Given the description of an element on the screen output the (x, y) to click on. 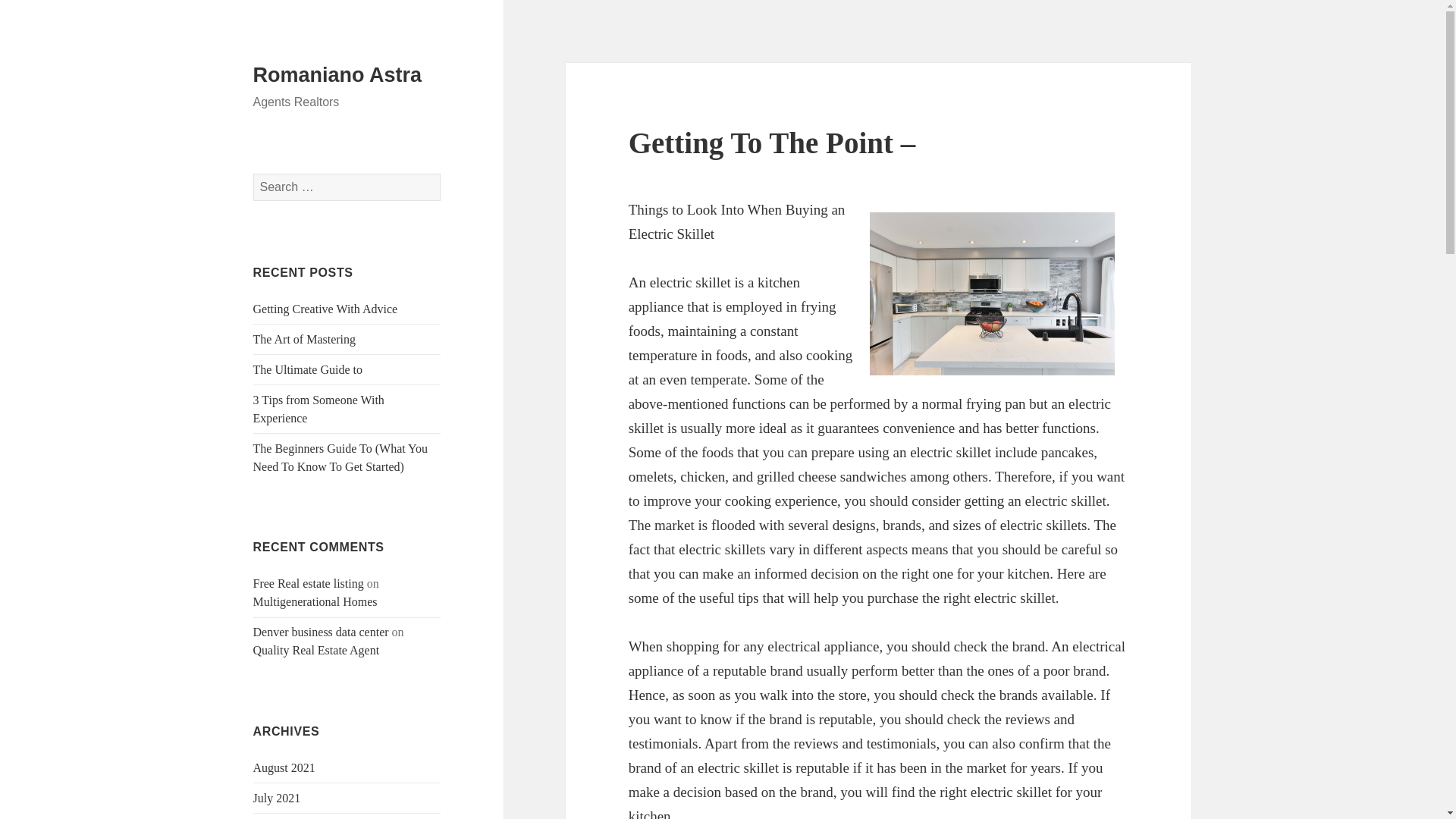
Getting Creative With Advice (325, 308)
Romaniano Astra (337, 74)
August 2021 (284, 767)
July 2021 (277, 797)
Quality Real Estate Agent (316, 649)
Multigenerational Homes (315, 601)
Denver business data center (320, 631)
3 Tips from Someone With Experience (318, 409)
Free Real estate listing (308, 583)
The Art of Mastering (304, 338)
The Ultimate Guide to (307, 369)
